Given the description of an element on the screen output the (x, y) to click on. 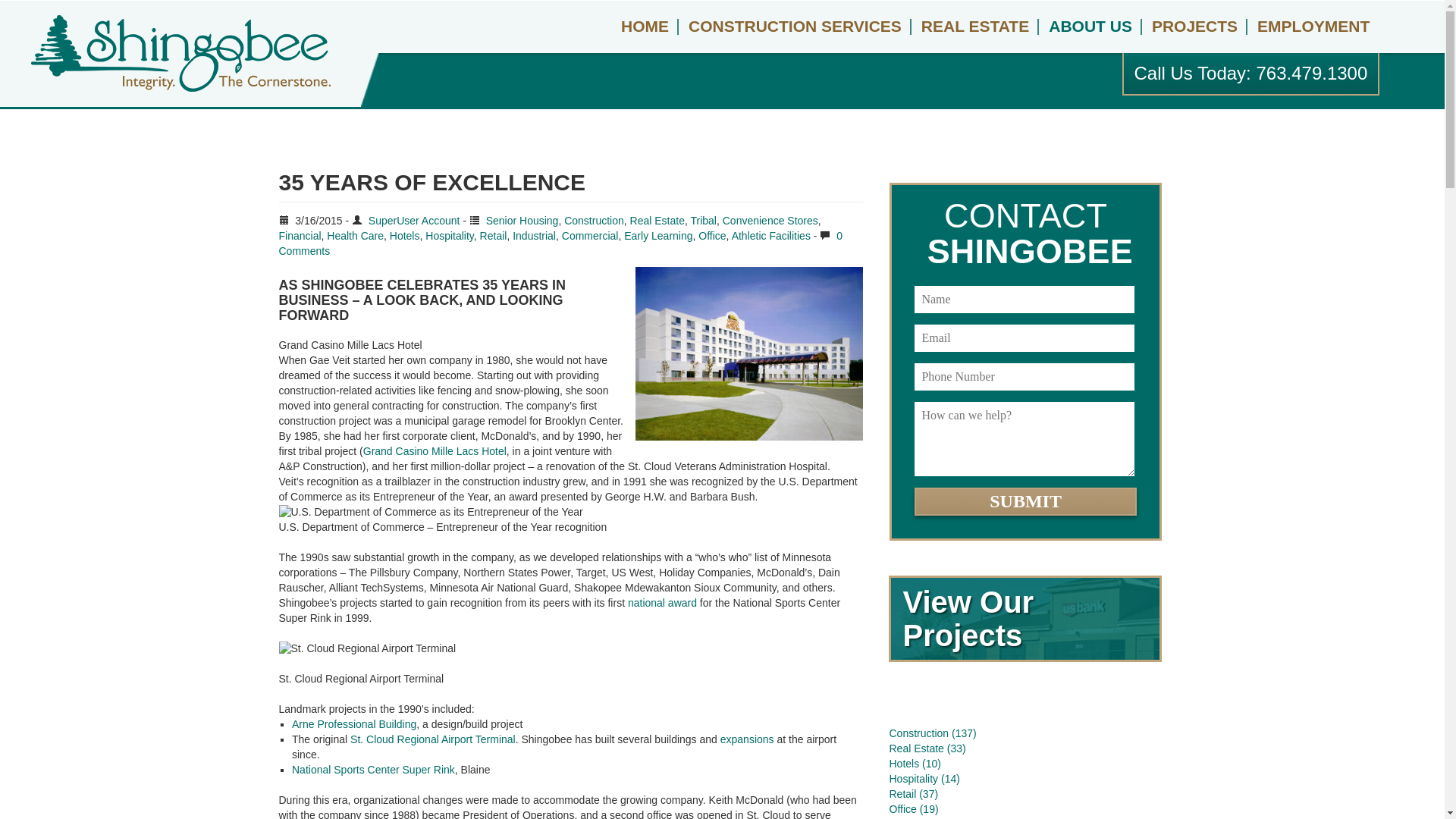
View all posts in Hotels (405, 235)
View all posts in Senior Housing (522, 220)
PROJECTS (1194, 26)
View all posts in Financial (300, 235)
View all posts in Health Care (355, 235)
View all posts in Real Estate (657, 220)
CONSTRUCTION SERVICES (794, 26)
REAL ESTATE (975, 26)
HOME (644, 26)
Shingobee Builders (180, 53)
EMPLOYMENT (1312, 26)
ABOUT US (1090, 26)
View all posts in Tribal (703, 220)
View all posts in Convenience Stores (770, 220)
View all posts in Construction (594, 220)
